Given the description of an element on the screen output the (x, y) to click on. 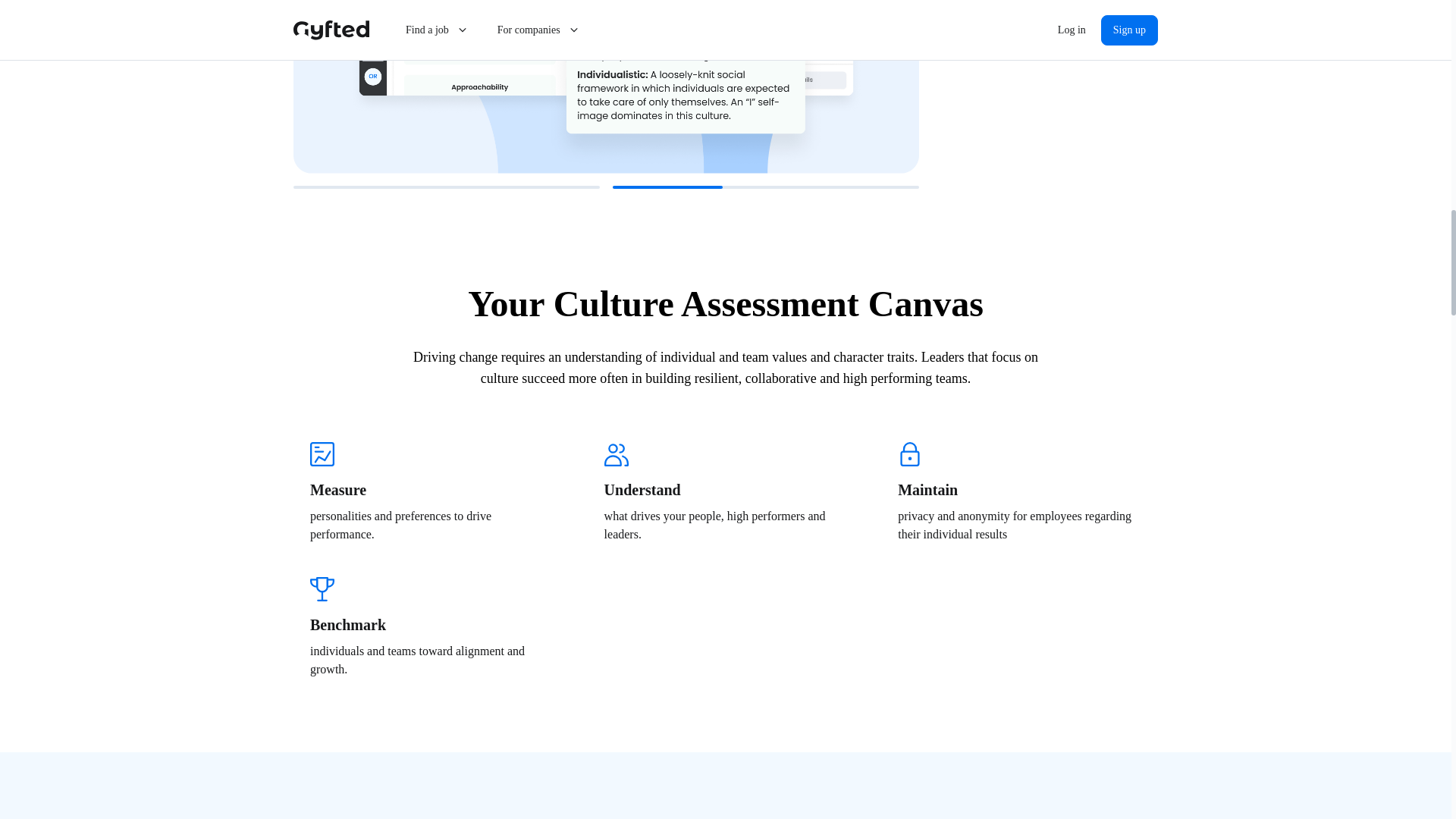
Schedule a consultation (1047, 2)
